Given the description of an element on the screen output the (x, y) to click on. 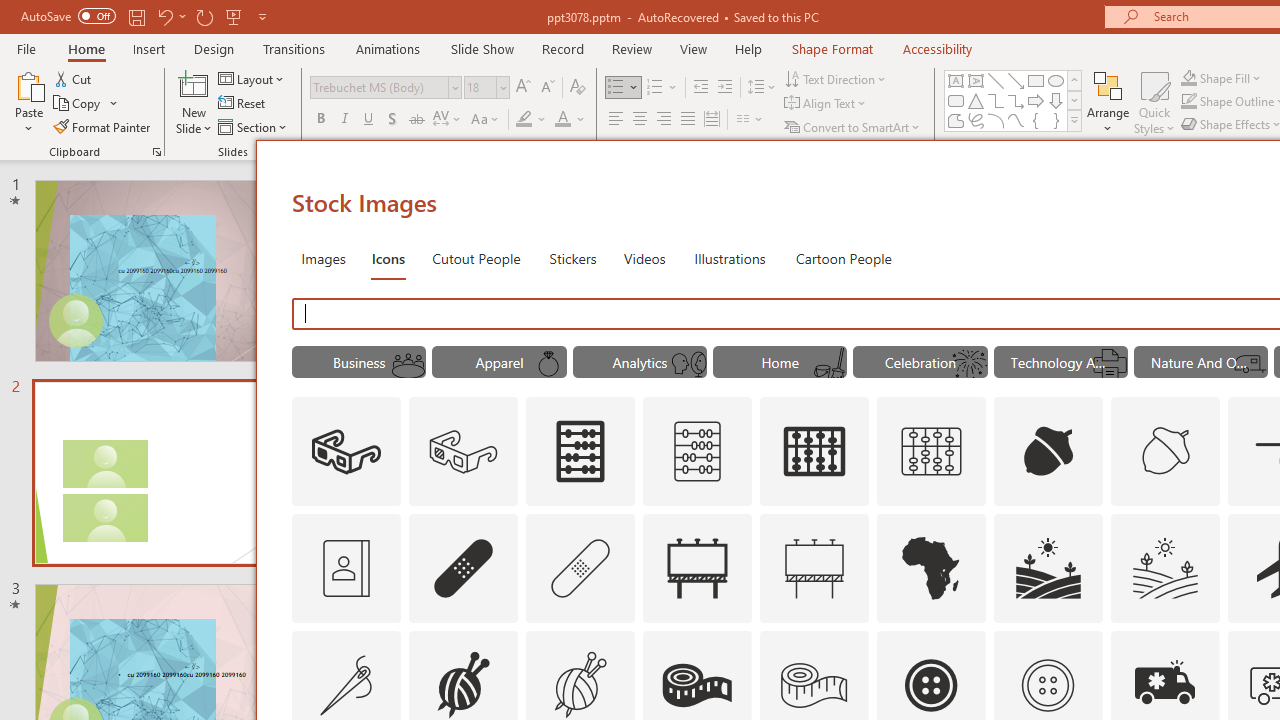
Shape Outline Green, Accent 1 (1188, 101)
Text Highlight Color Yellow (524, 119)
AutomationID: Icons_Abacus1_M (931, 452)
Decrease Indent (700, 87)
Font Color Red (562, 119)
